Given the description of an element on the screen output the (x, y) to click on. 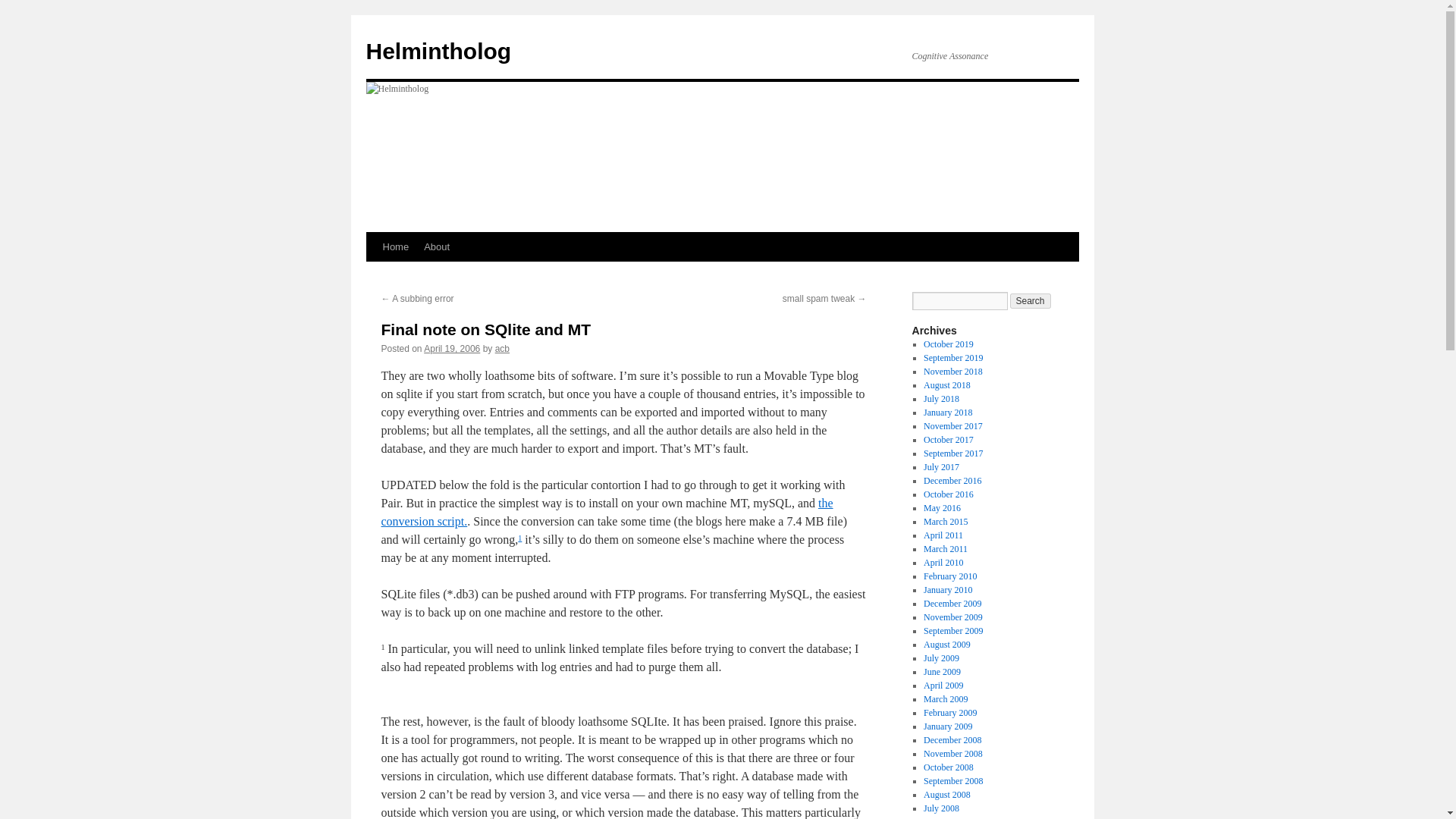
January 2018 (947, 412)
March 2015 (945, 521)
October 2017 (948, 439)
July 2018 (941, 398)
November 2017 (952, 425)
Home (395, 246)
September 2017 (952, 452)
August 2018 (947, 385)
3:25 pm (451, 348)
November 2009 (952, 616)
